Given the description of an element on the screen output the (x, y) to click on. 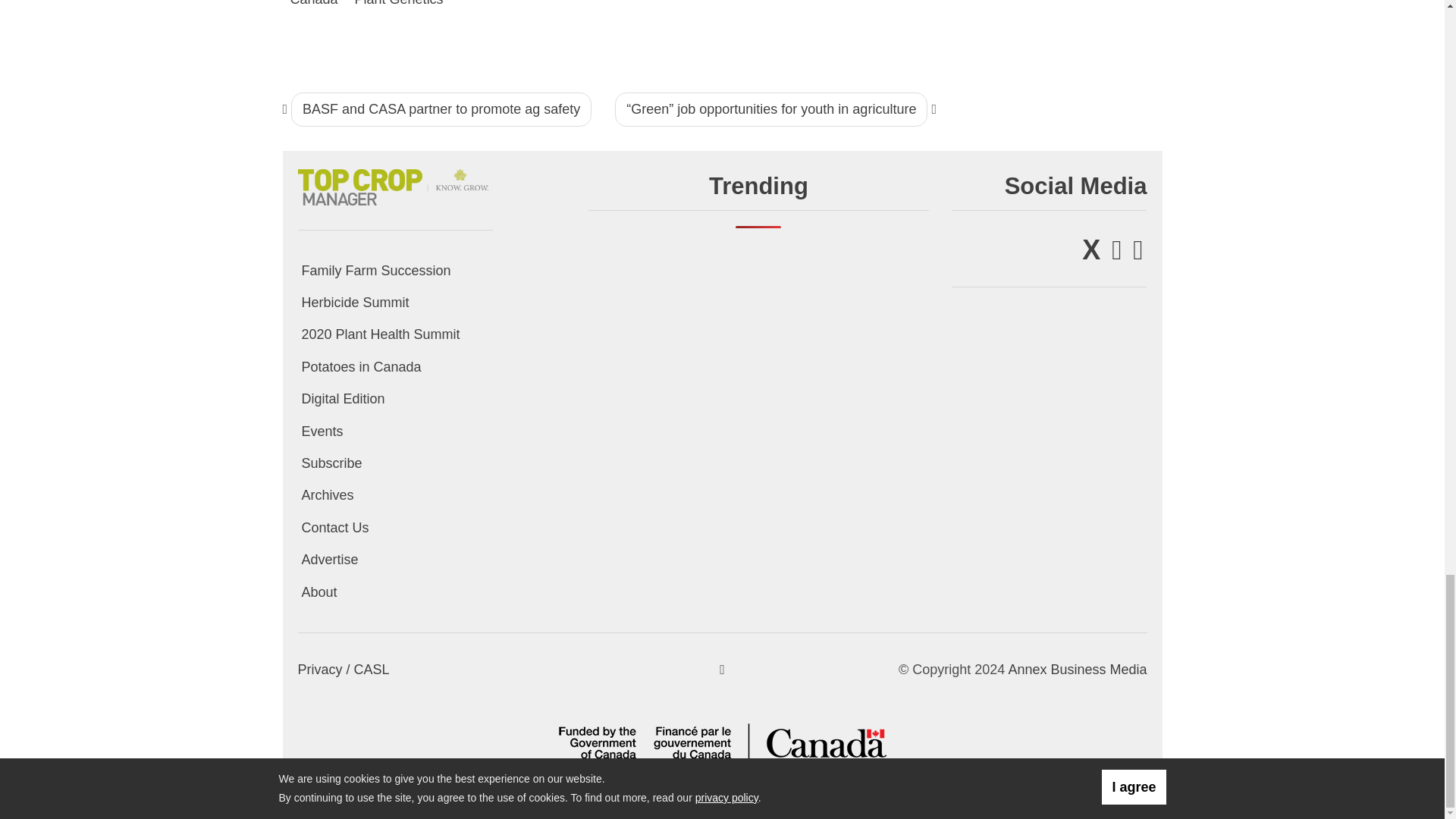
Annex Business Media (1077, 669)
scroll to top (722, 669)
Top Crop Manager (395, 183)
